Given the description of an element on the screen output the (x, y) to click on. 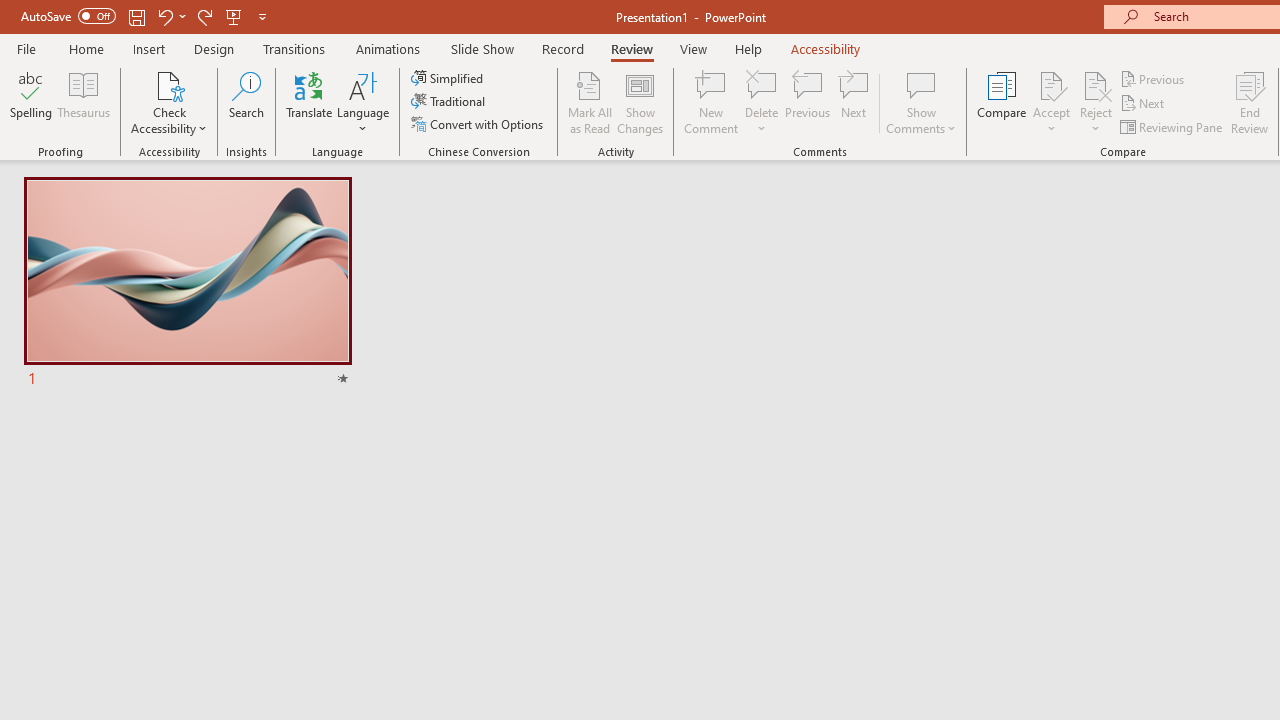
Previous (1153, 78)
Accessibility (825, 48)
Check Accessibility (169, 102)
Delete (762, 84)
Language (363, 102)
Accept Change (1051, 84)
Check Accessibility (169, 84)
Spelling... (31, 102)
